Given the description of an element on the screen output the (x, y) to click on. 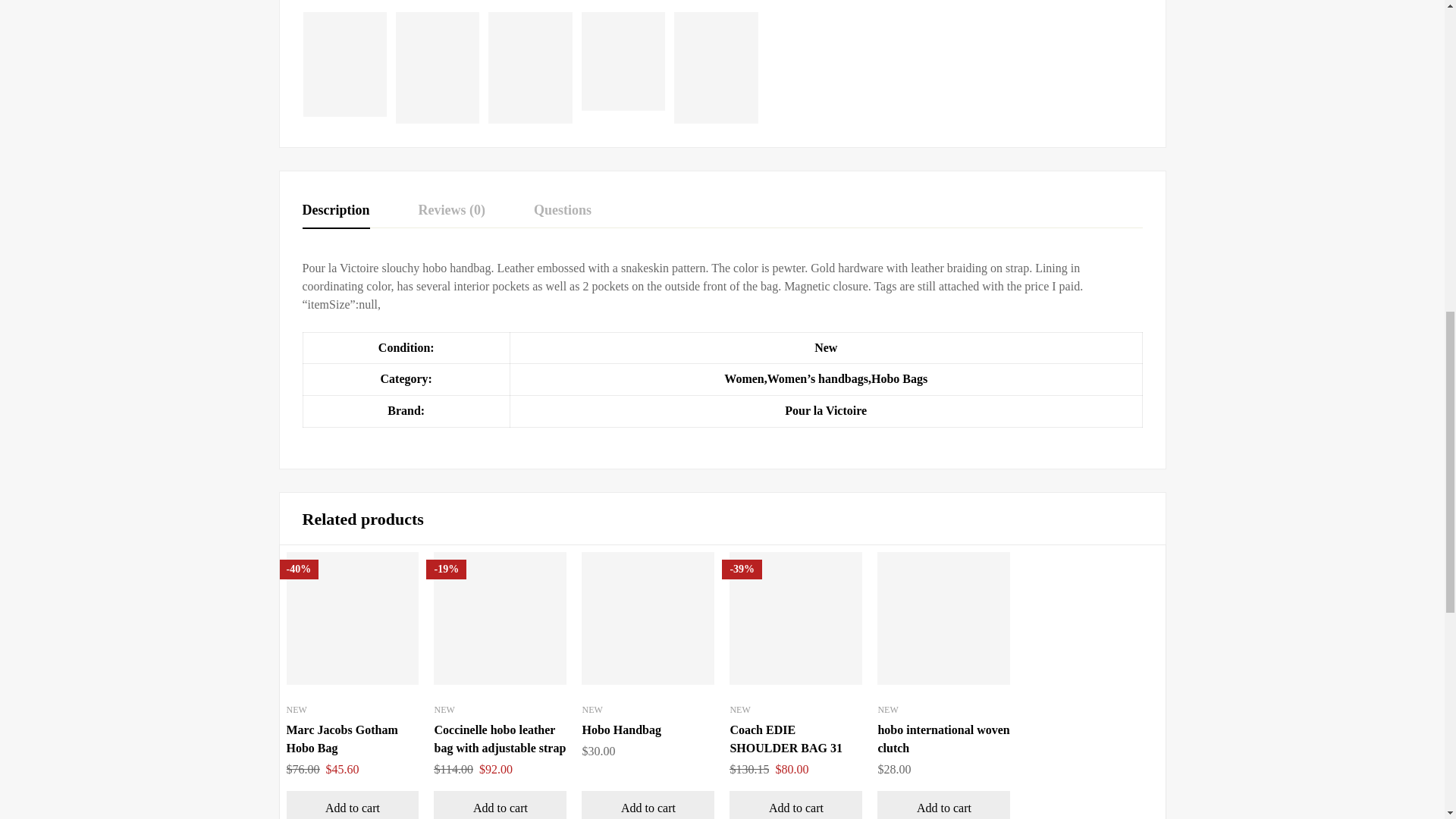
Hobo Handbag (620, 729)
Add to cart (352, 805)
NEW (296, 709)
Add to cart (499, 805)
Marc Jacobs Gotham Hobo Bag (341, 738)
Coccinelle hobo leather bag with adjustable strap (499, 738)
NEW (443, 709)
NEW (591, 709)
